Given the description of an element on the screen output the (x, y) to click on. 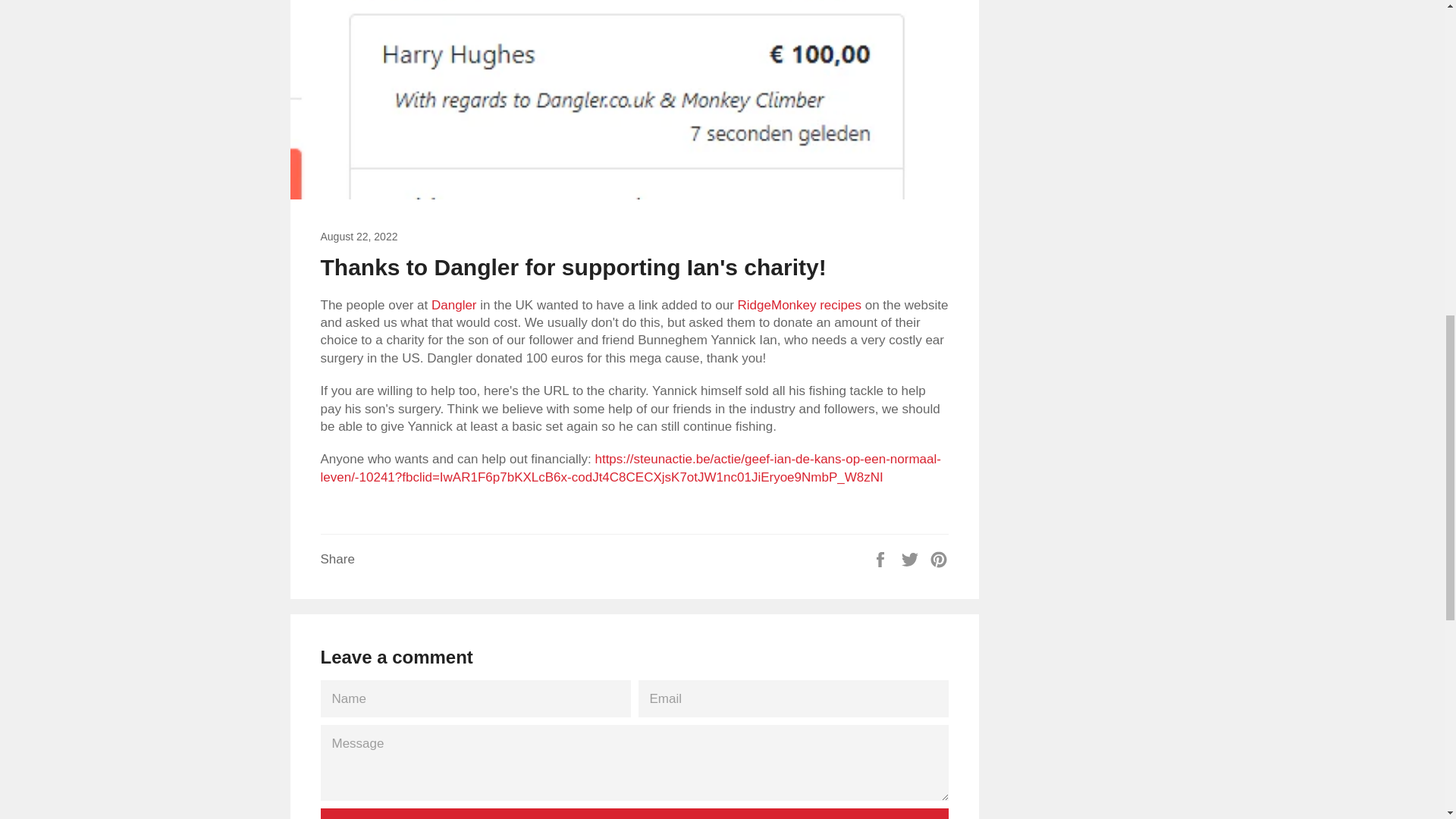
Share on Facebook (881, 558)
Post comment (633, 813)
Pin on Pinterest (938, 558)
RidgeMonkey recipes (799, 305)
Pin on Pinterest (938, 558)
Post comment (633, 813)
Share on Facebook (881, 558)
Tweet on Twitter (912, 558)
Dangler (453, 305)
Tweet on Twitter (912, 558)
